Given the description of an element on the screen output the (x, y) to click on. 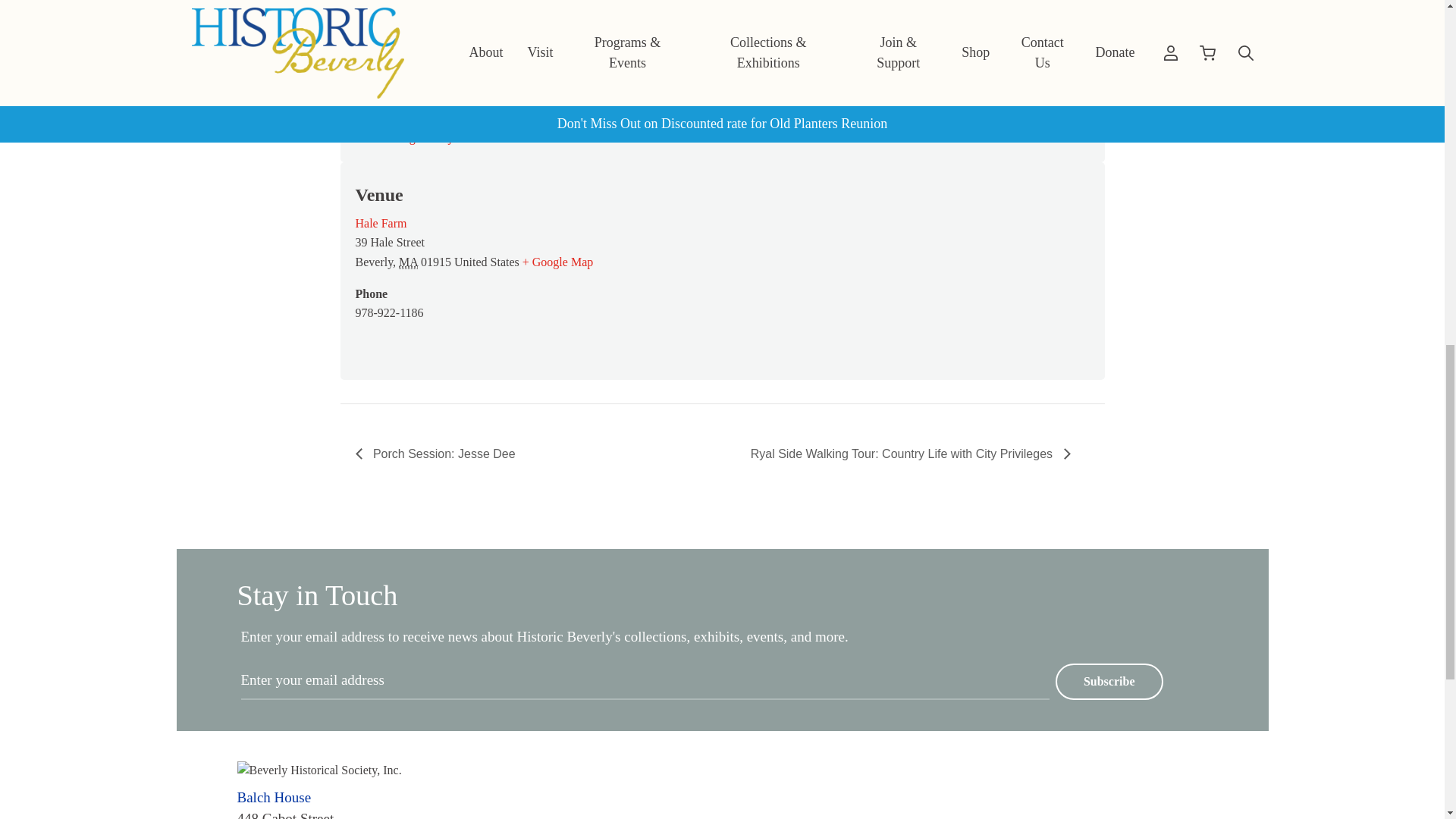
Click to view a Google Map (557, 261)
Historic Beverly (762, 35)
Massachusetts (407, 262)
Subscribe (1109, 681)
The Cabot (747, 17)
2021-07-17 (387, 38)
2021-07-17 (529, 87)
